Given the description of an element on the screen output the (x, y) to click on. 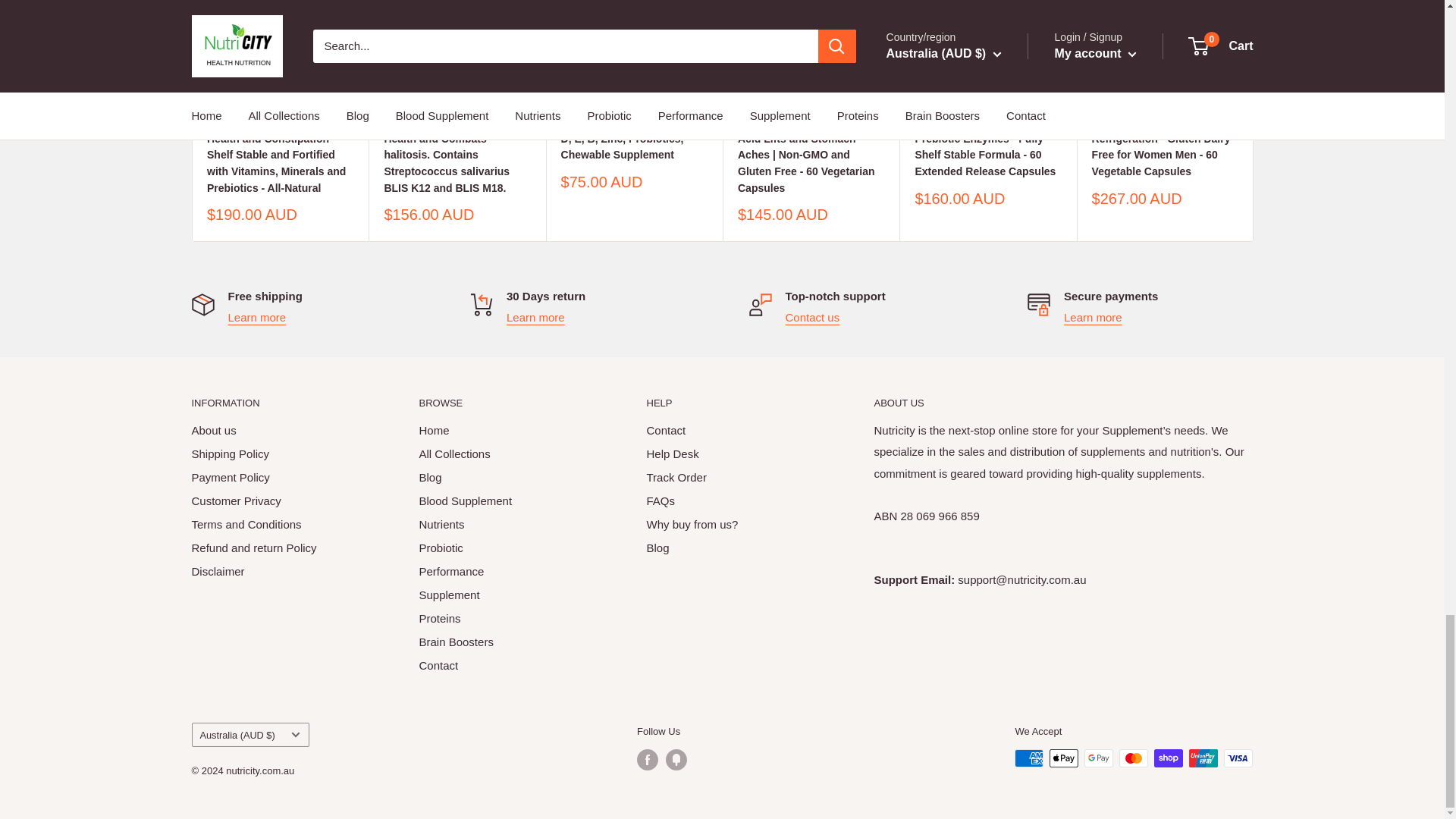
Shipping Policy (256, 317)
Refund Policy (535, 317)
Contact (813, 317)
Payment (1093, 317)
